Given the description of an element on the screen output the (x, y) to click on. 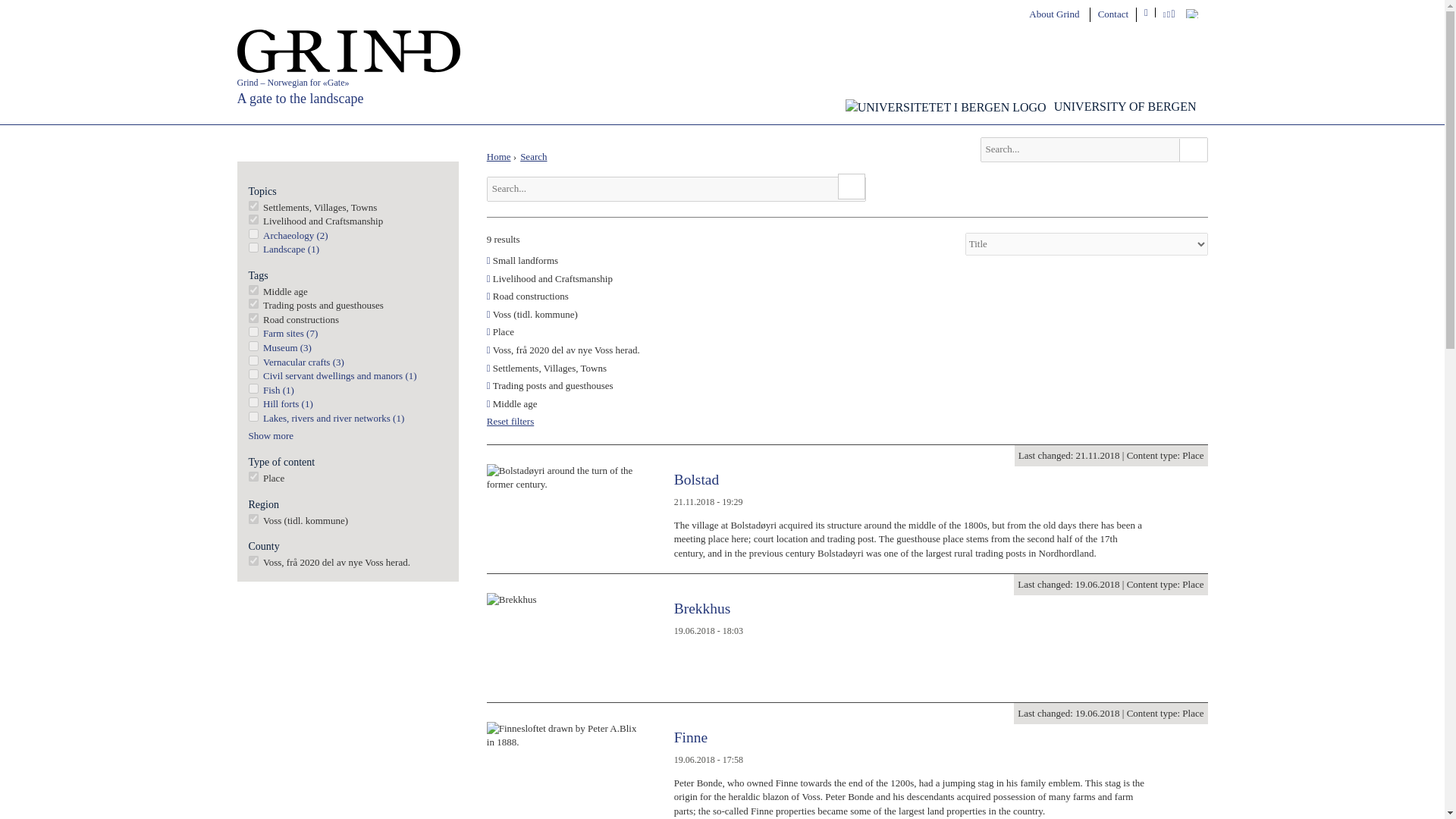
Finne (690, 737)
on (253, 476)
Search (851, 186)
Search (1191, 149)
Enter the terms you wish to search for. (1093, 149)
on (253, 388)
on (253, 289)
on (253, 374)
Search (851, 186)
Contact (1112, 13)
on (253, 303)
on (253, 331)
on (253, 247)
Reset filters (510, 420)
Search (1191, 149)
